Given the description of an element on the screen output the (x, y) to click on. 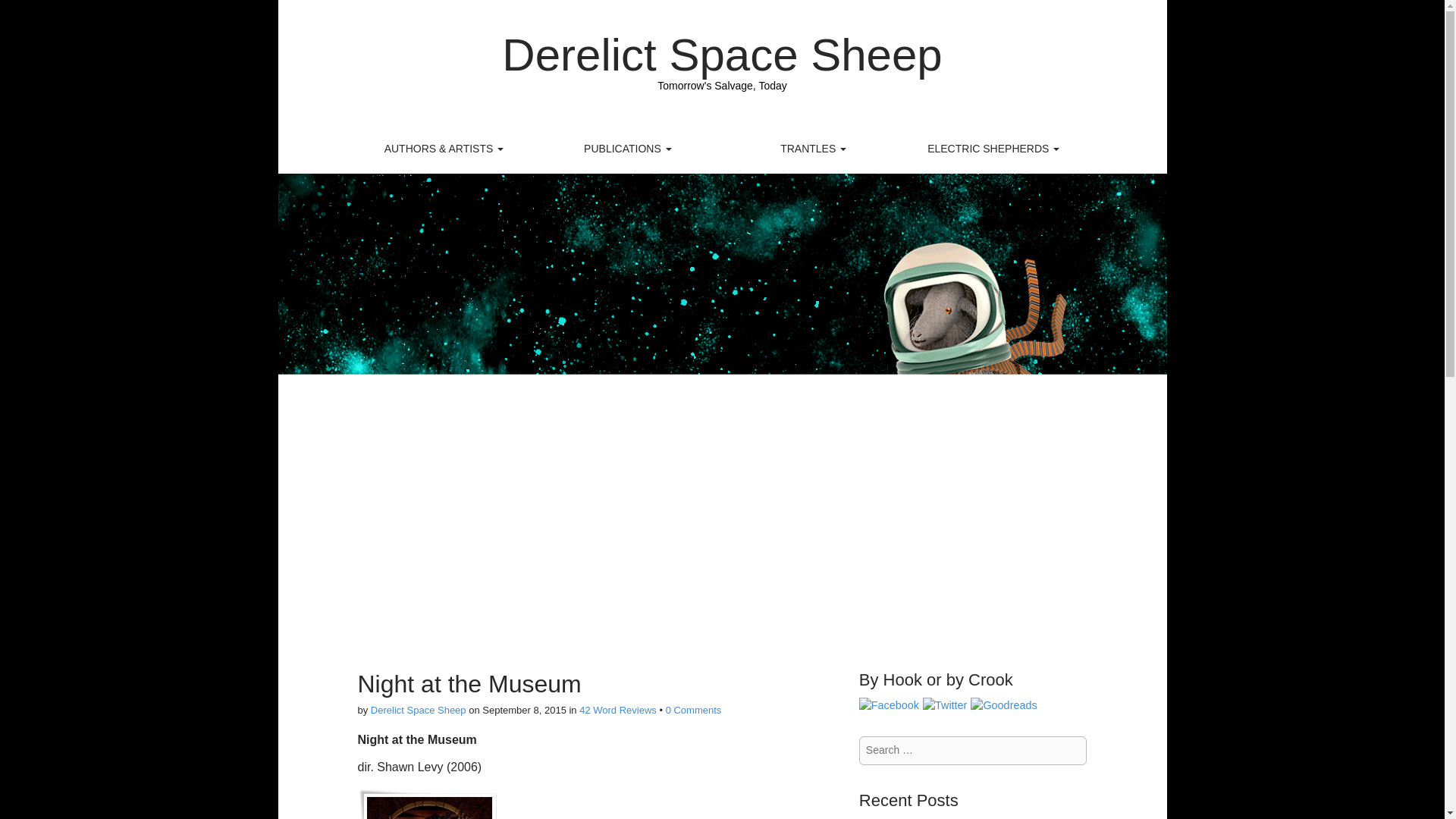
42 Word Reviews (617, 709)
September 8, 2015 (523, 709)
Follow maxmooneydss on Twitter (944, 704)
Goodreads (1003, 704)
Search (23, 14)
Derelict Space Sheep (722, 54)
Derelict Space Sheep (722, 54)
Connect on Facebook (888, 704)
Posts by Derelict Space Sheep (418, 709)
